Given the description of an element on the screen output the (x, y) to click on. 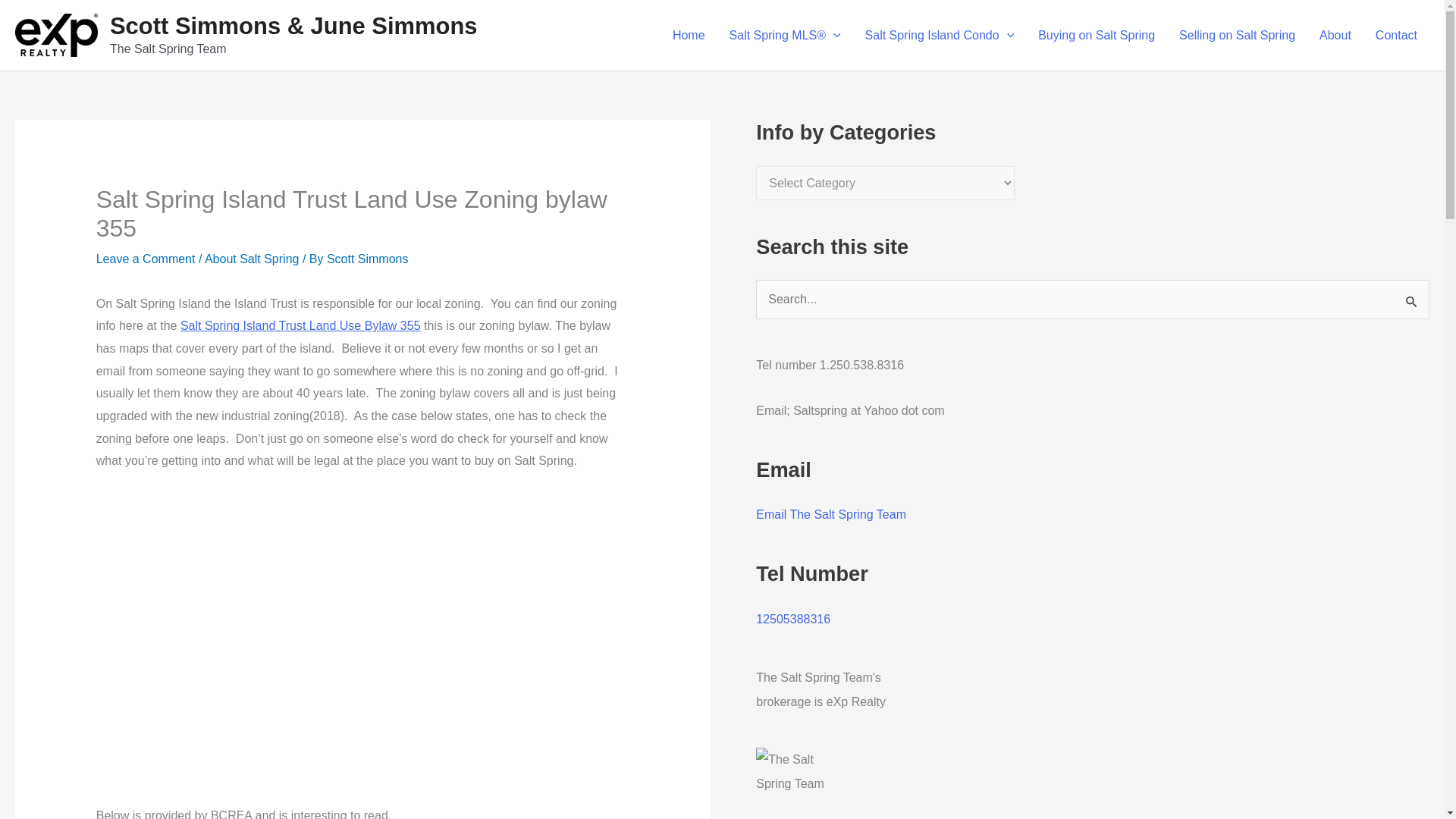
Salt Spring Island Trust Land Use Bylaw 355 (300, 325)
Home (689, 35)
Leave a Comment (145, 258)
Selling on Salt Spring (1237, 35)
Buying on Salt Spring (1096, 35)
Salt Spring Island Condo (939, 35)
Selling on Salt Spring (1237, 35)
Buying on Salt Spring (1096, 35)
Scott Simmons (367, 258)
About (1334, 35)
View all posts by Scott Simmons (367, 258)
About Salt Spring (252, 258)
Contact (1395, 35)
